Given the description of an element on the screen output the (x, y) to click on. 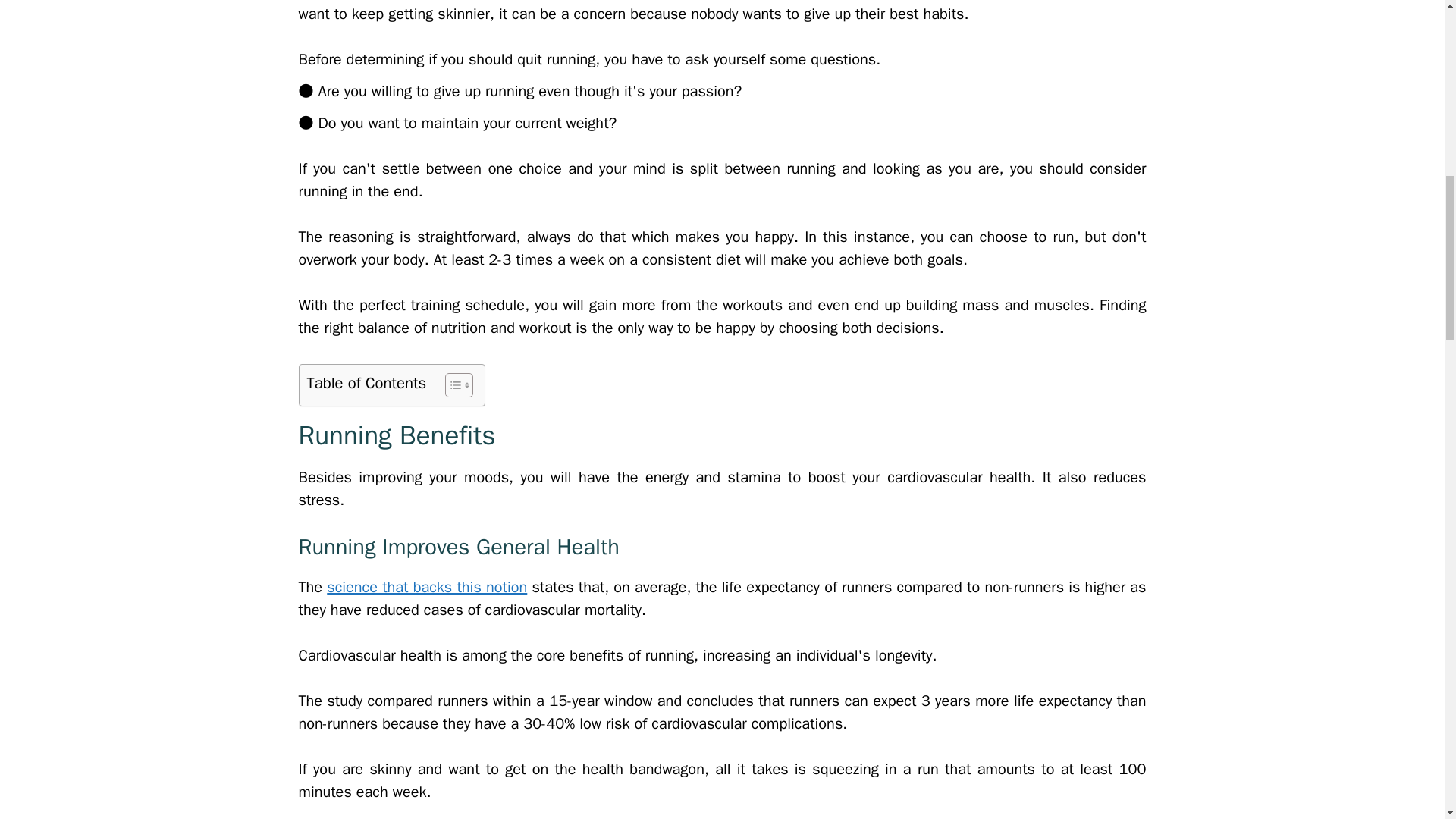
Scroll back to top (1406, 720)
science that backs this notion (426, 587)
